Given the description of an element on the screen output the (x, y) to click on. 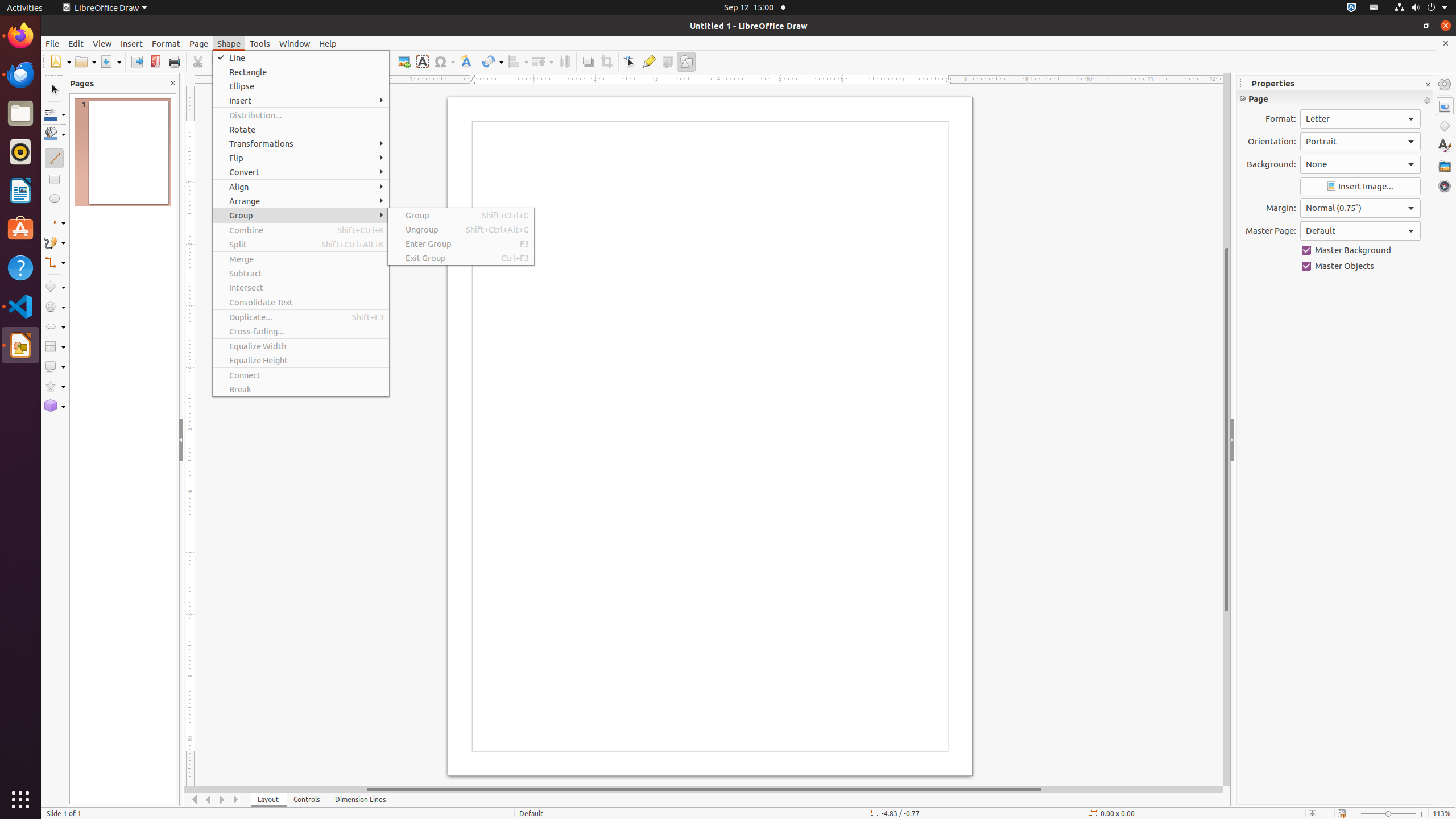
Properties Element type: radio-button (1444, 106)
LibreOffice Draw Element type: push-button (20, 344)
Cut Element type: push-button (197, 61)
Thunderbird Mail Element type: push-button (20, 74)
Move To End Element type: push-button (236, 799)
